Given the description of an element on the screen output the (x, y) to click on. 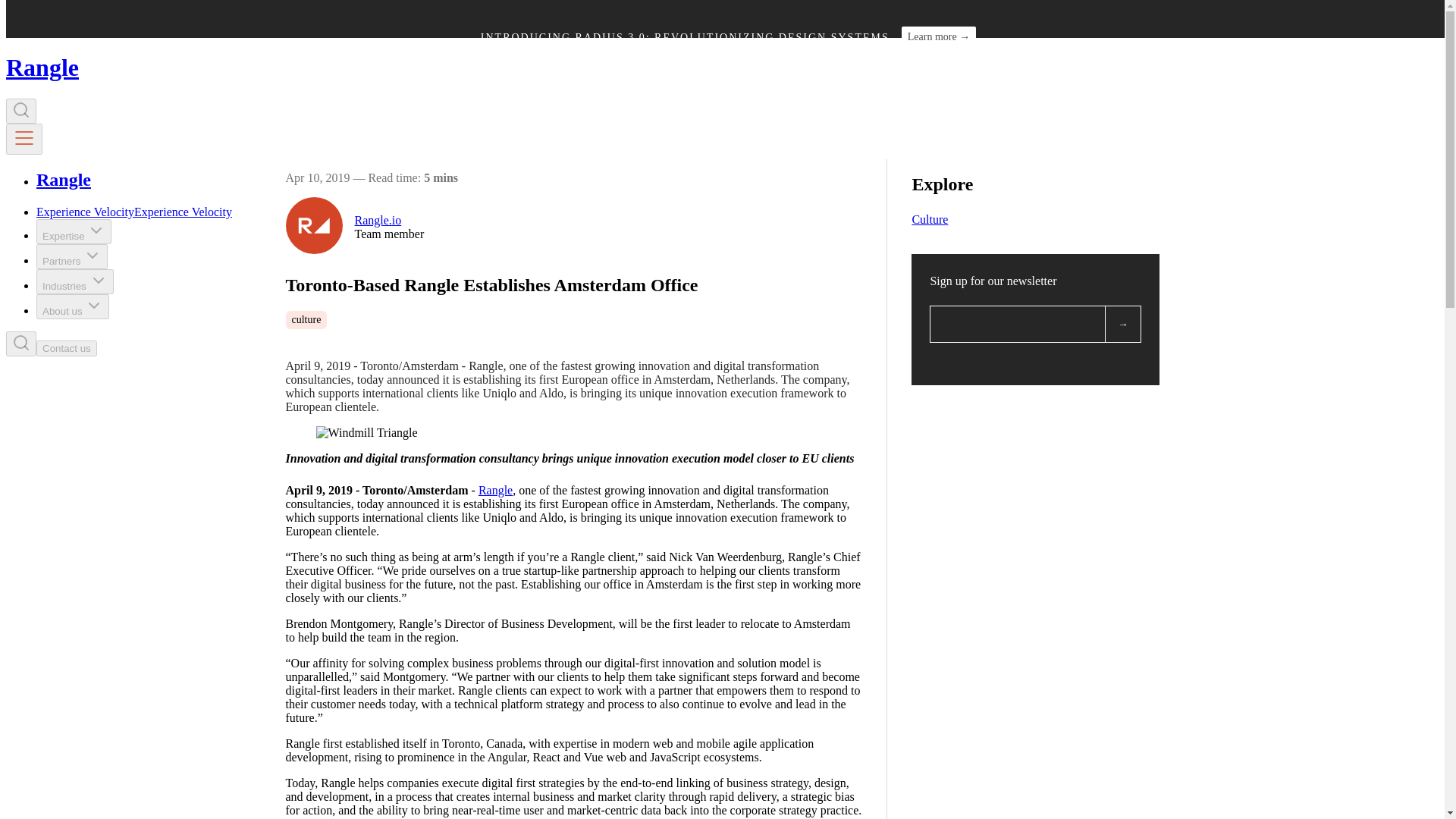
Rangle (495, 490)
Rangle.io (390, 220)
Contact us (66, 347)
About us (72, 306)
Partners (71, 256)
Contact us (66, 348)
Industries (74, 281)
Expertise (74, 231)
Experience VelocityExperience Velocity (133, 211)
Culture (929, 219)
